Given the description of an element on the screen output the (x, y) to click on. 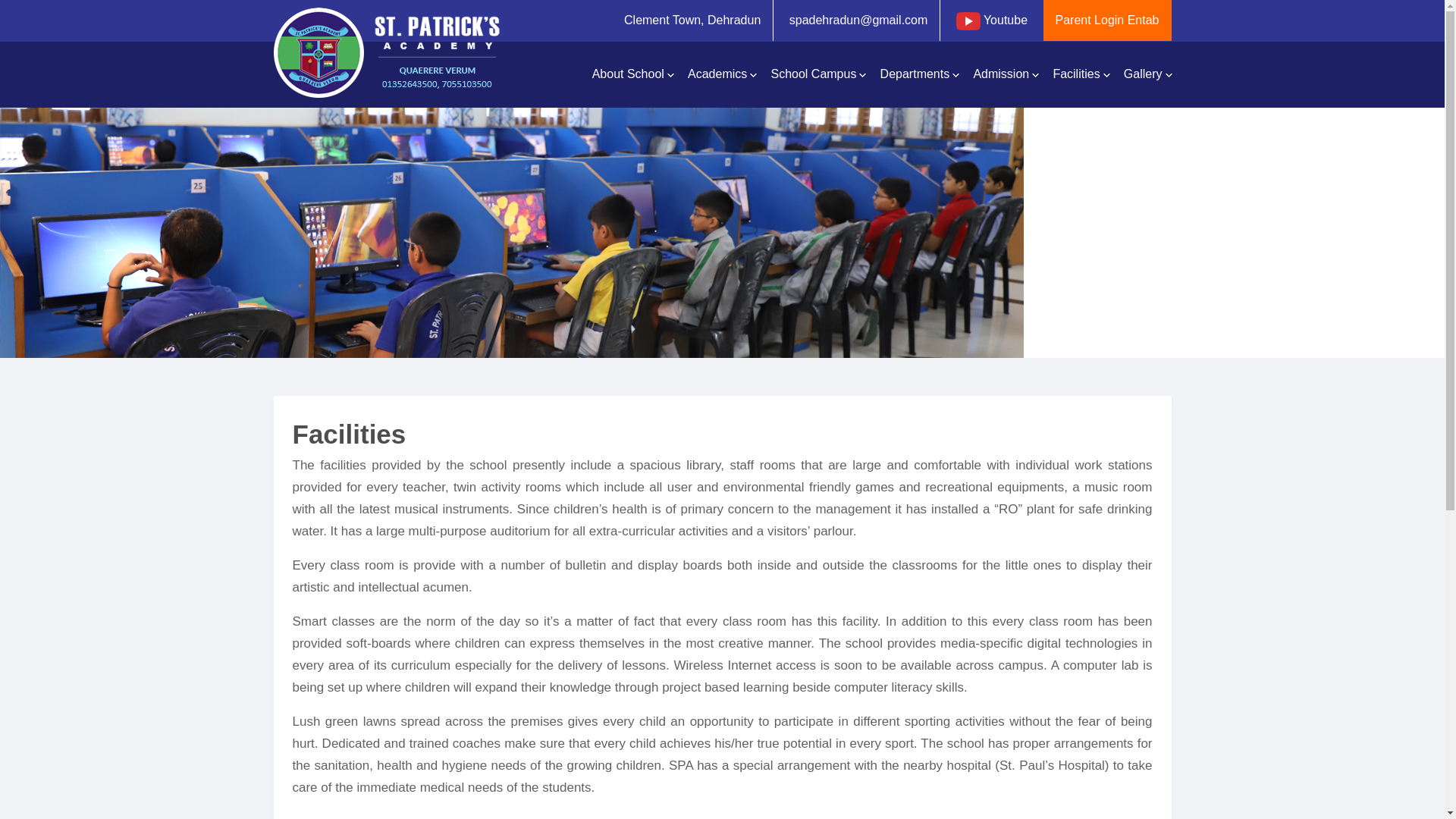
Youtube (991, 19)
Departments (919, 73)
About School (632, 73)
Clement Town, Dehradun (692, 19)
School Campus (817, 73)
Academics (720, 73)
Facilities (1080, 73)
Parent Login Entab (1106, 19)
Admission (1005, 73)
